Given the description of an element on the screen output the (x, y) to click on. 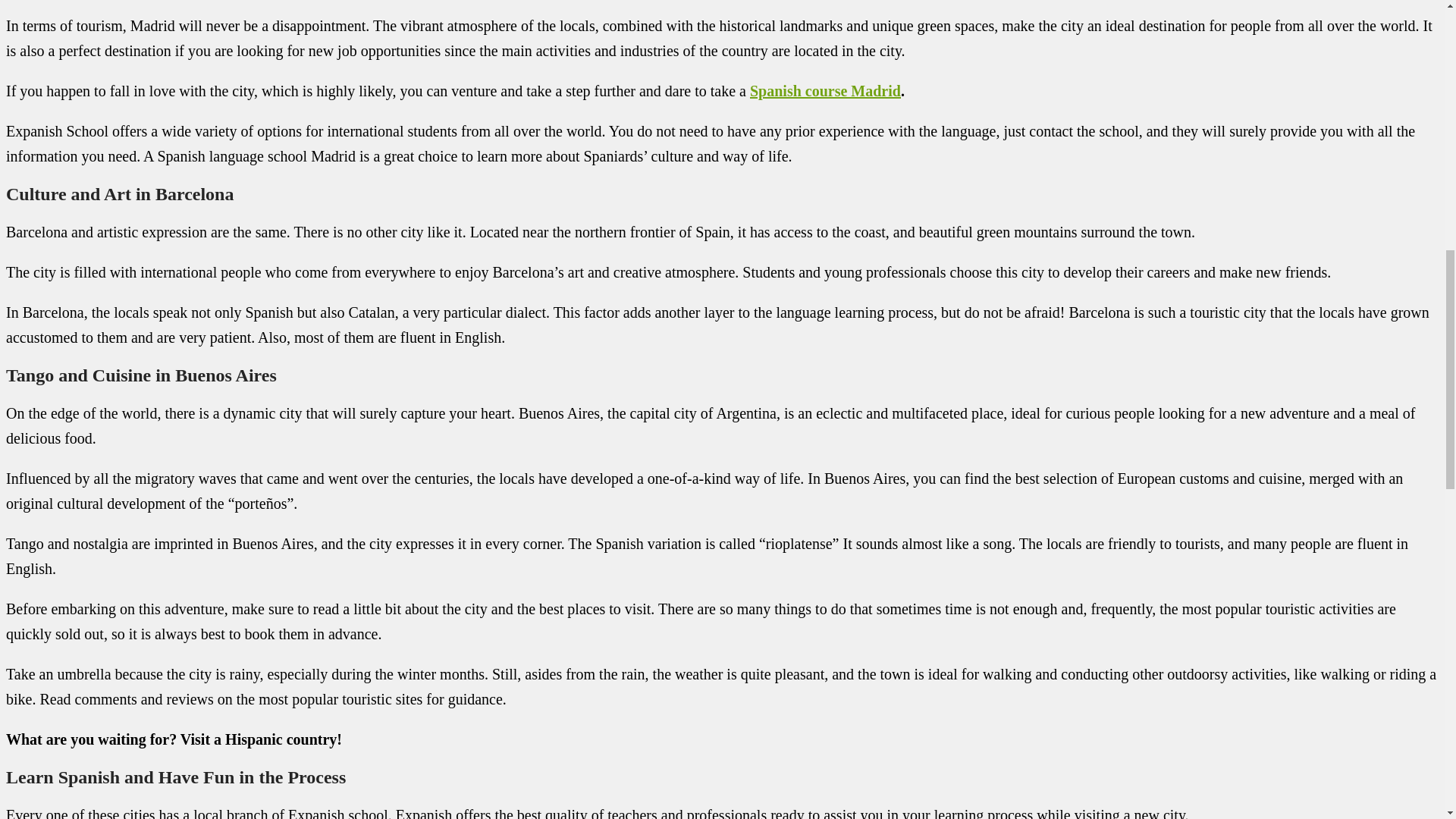
Spanish course Madrid (825, 90)
